Given the description of an element on the screen output the (x, y) to click on. 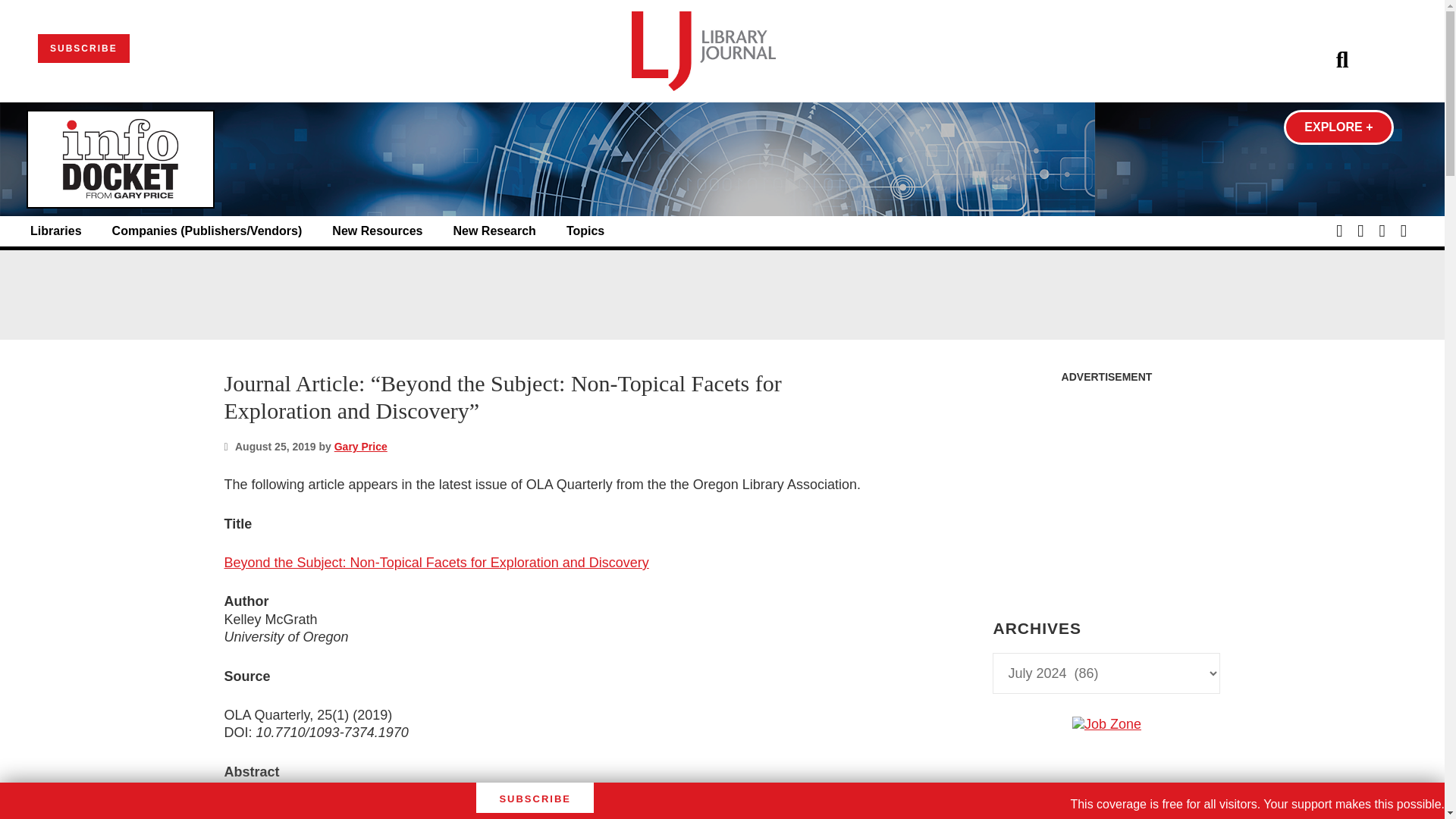
New Resources (376, 231)
SUBSCRIBE (83, 48)
3rd party ad content (1106, 816)
3rd party ad content (1106, 485)
Libraries (55, 231)
3rd party ad content (721, 294)
